Given the description of an element on the screen output the (x, y) to click on. 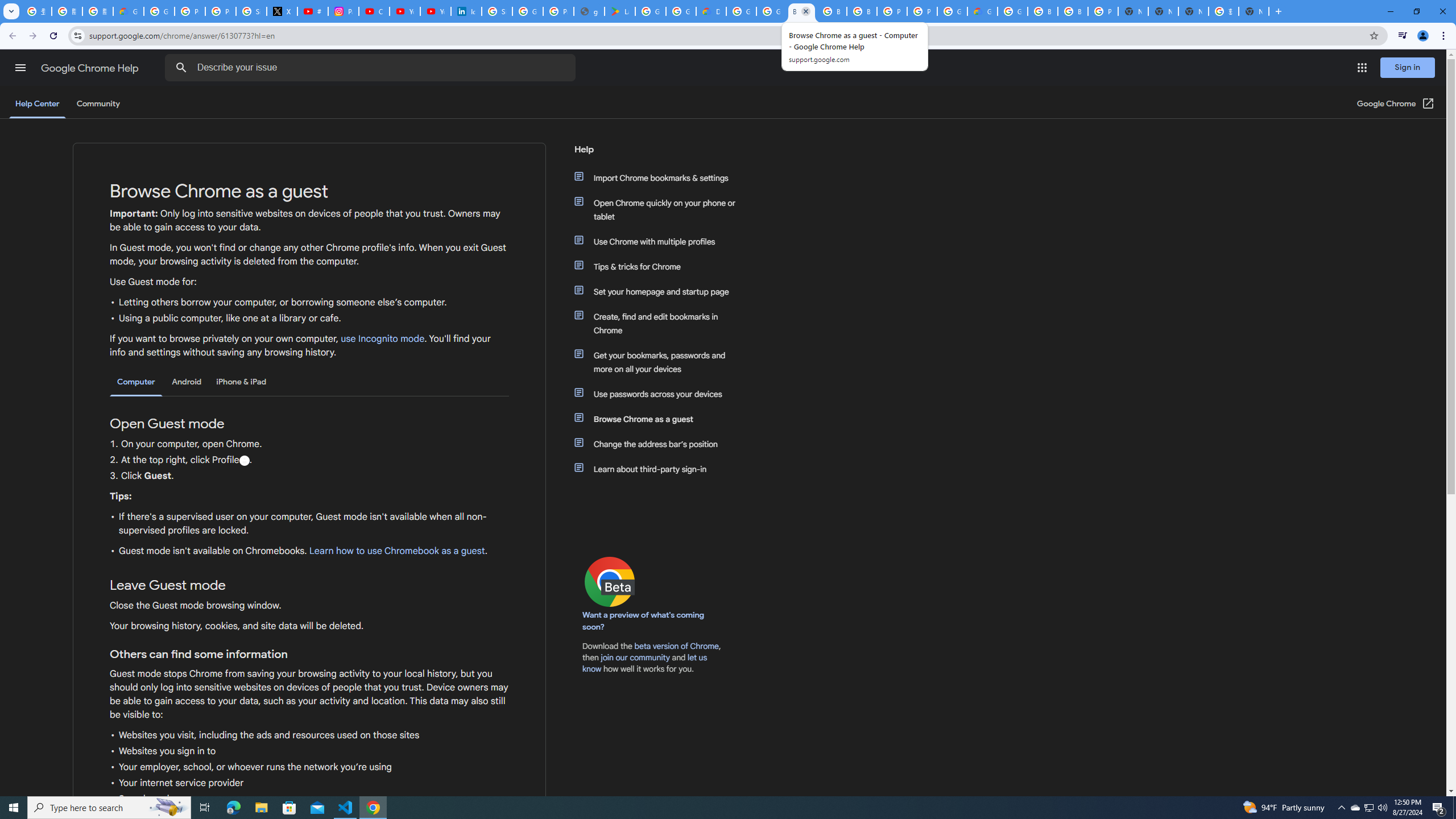
Create, find and edit bookmarks in Chrome (661, 323)
join our community (634, 657)
Google Cloud Estimate Summary (982, 11)
Learn about third-party sign-in (661, 469)
Browse Chrome as a guest (661, 419)
Tips & tricks for Chrome (661, 266)
use Incognito mode (382, 338)
Google Cloud Platform (1012, 11)
